Given the description of an element on the screen output the (x, y) to click on. 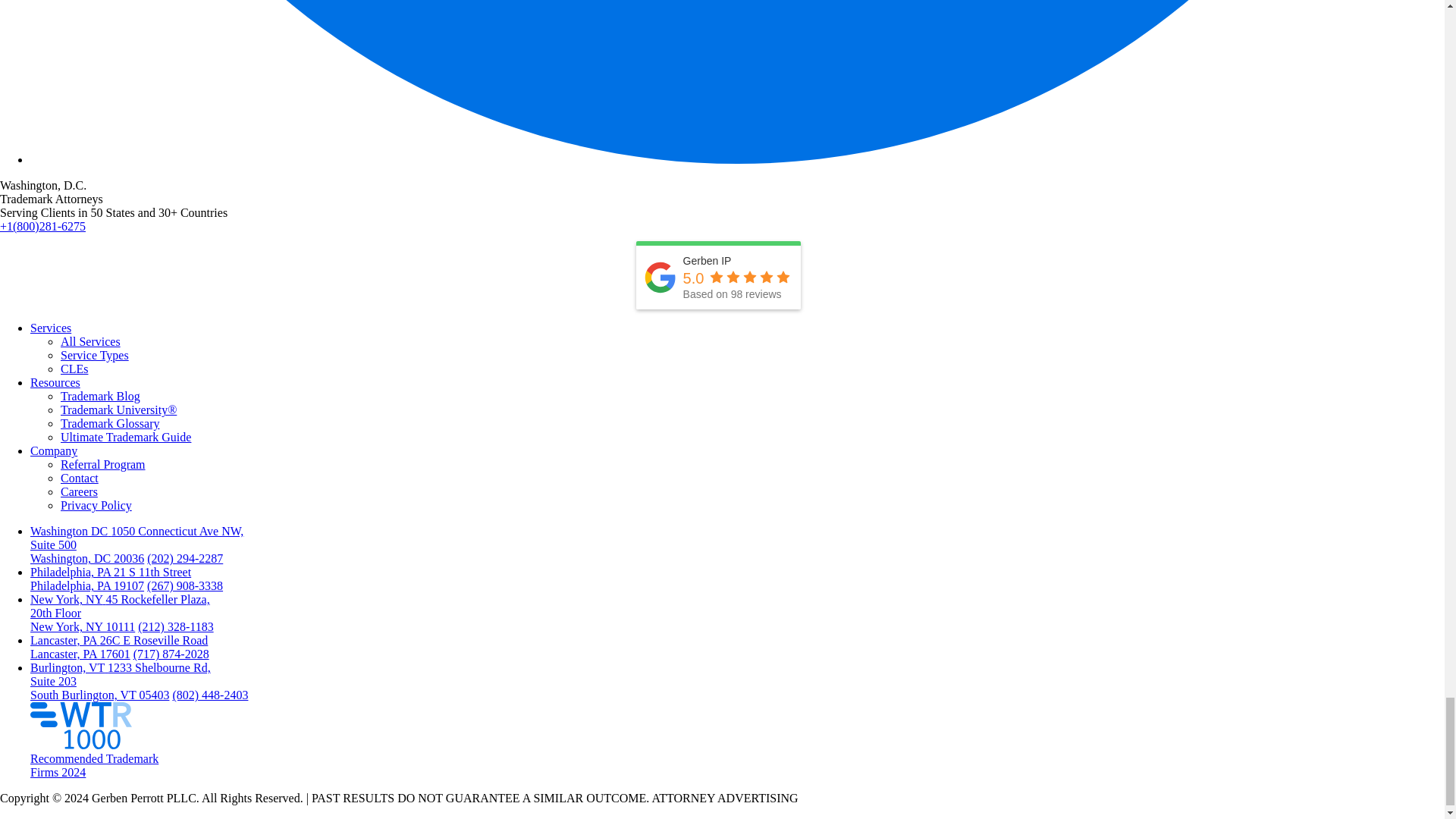
Ultimate Trademark Guide (125, 436)
CLEs (74, 368)
Resources (55, 382)
Trademark Blog (100, 395)
Service Types (95, 354)
Services (50, 327)
Trademark Glossary (110, 422)
Company (53, 450)
All Services (90, 341)
